Given the description of an element on the screen output the (x, y) to click on. 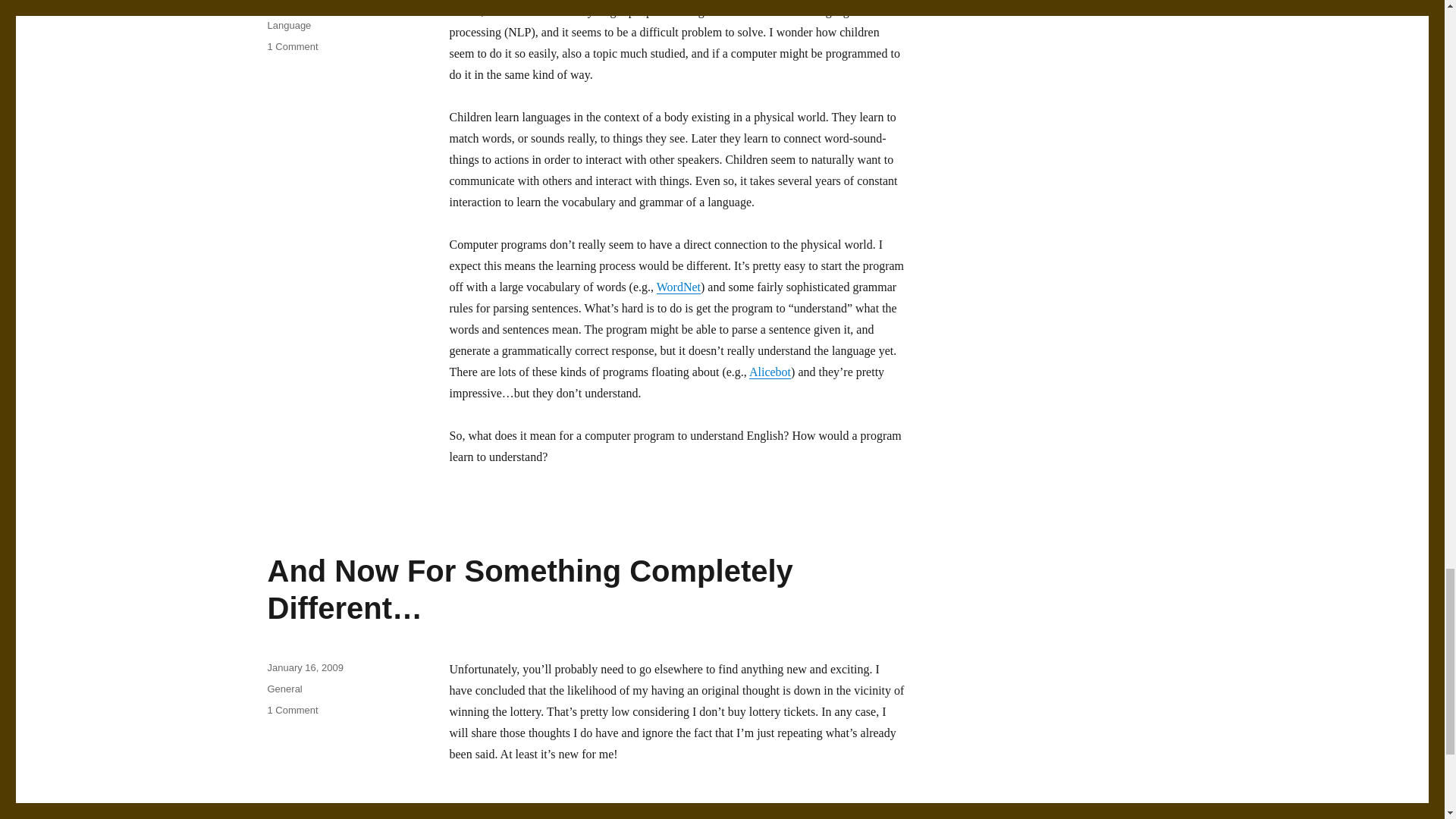
WordNet (678, 286)
January 16, 2009 (304, 667)
General (291, 46)
Natural Language (283, 688)
Alicebot (324, 17)
Machine Learning (769, 371)
